Given the description of an element on the screen output the (x, y) to click on. 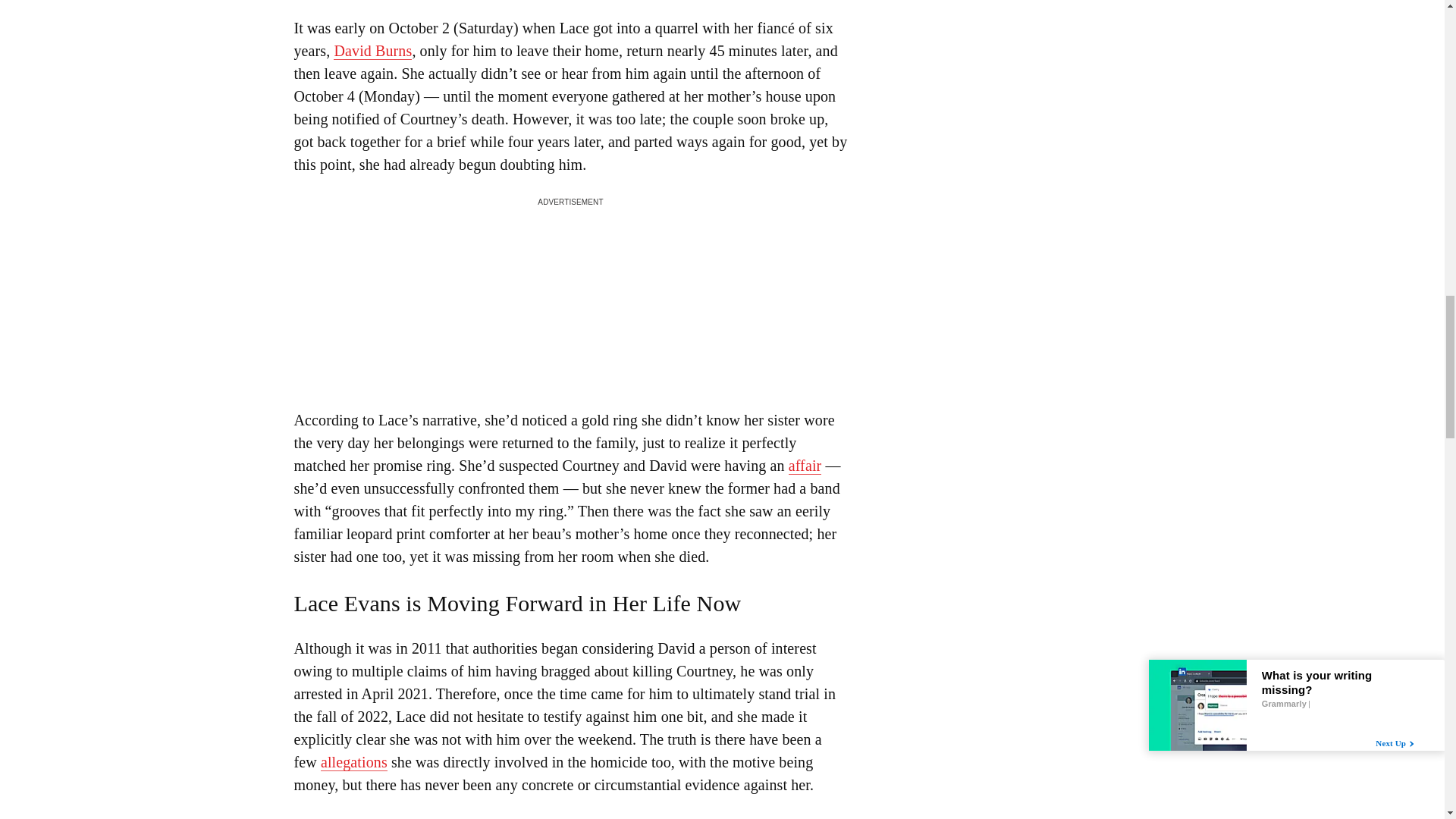
allegations (353, 762)
David Burns (372, 50)
affair (805, 466)
